Given the description of an element on the screen output the (x, y) to click on. 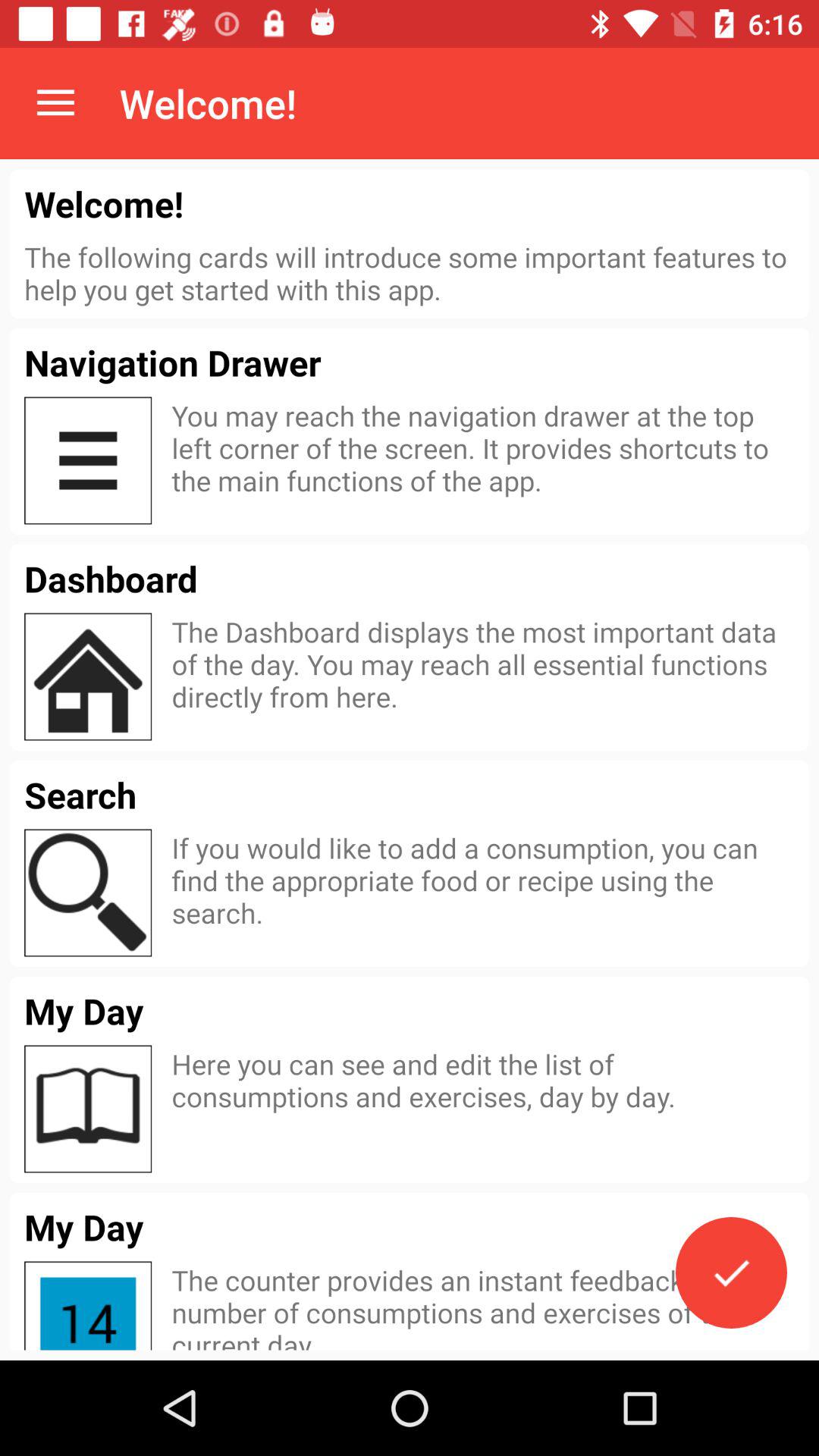
open icon at the bottom right corner (731, 1272)
